Given the description of an element on the screen output the (x, y) to click on. 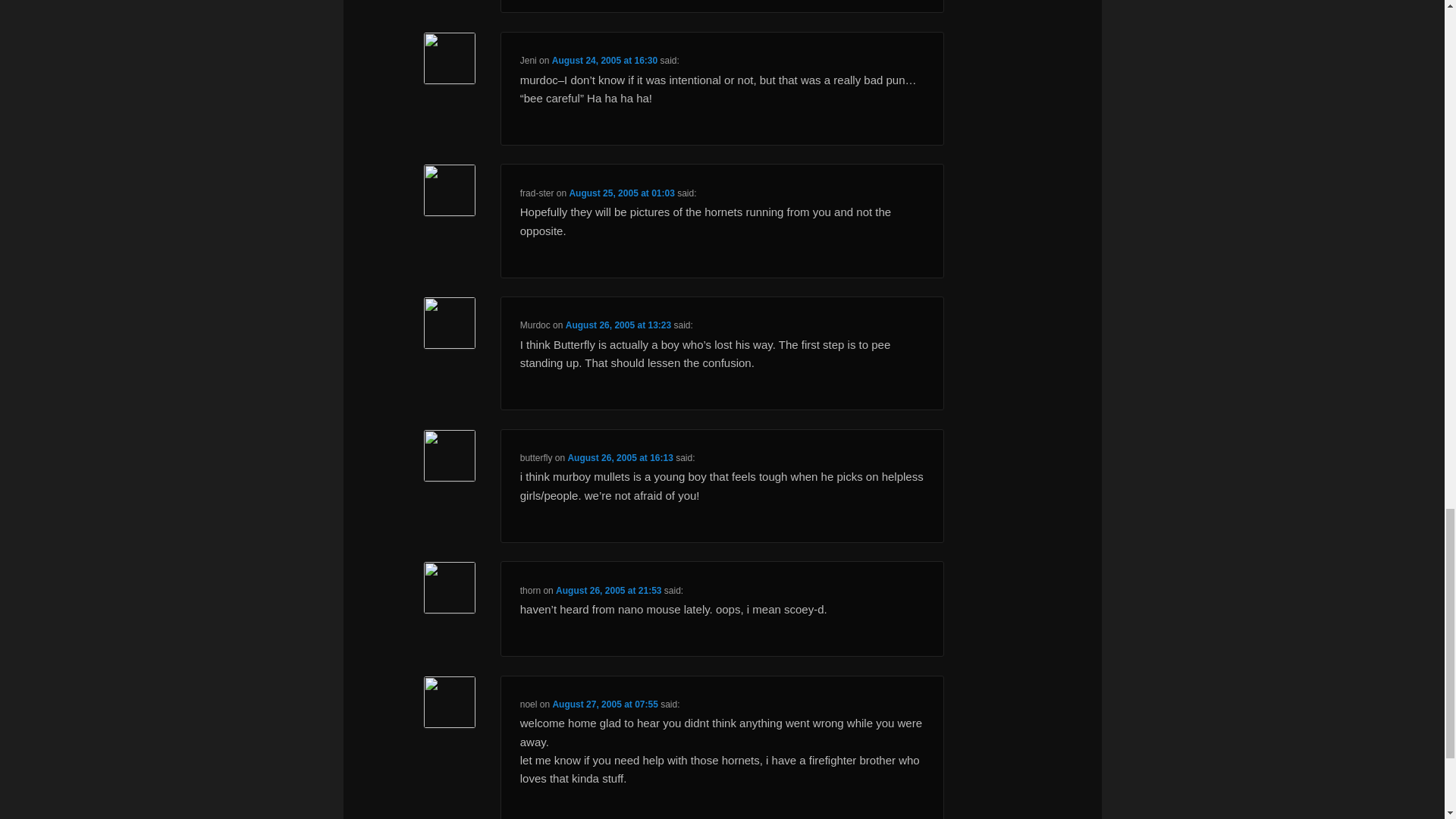
August 26, 2005 at 16:13 (619, 457)
August 24, 2005 at 16:30 (604, 60)
August 26, 2005 at 13:23 (618, 325)
August 26, 2005 at 21:53 (608, 590)
August 27, 2005 at 07:55 (604, 704)
August 25, 2005 at 01:03 (621, 193)
